Given the description of an element on the screen output the (x, y) to click on. 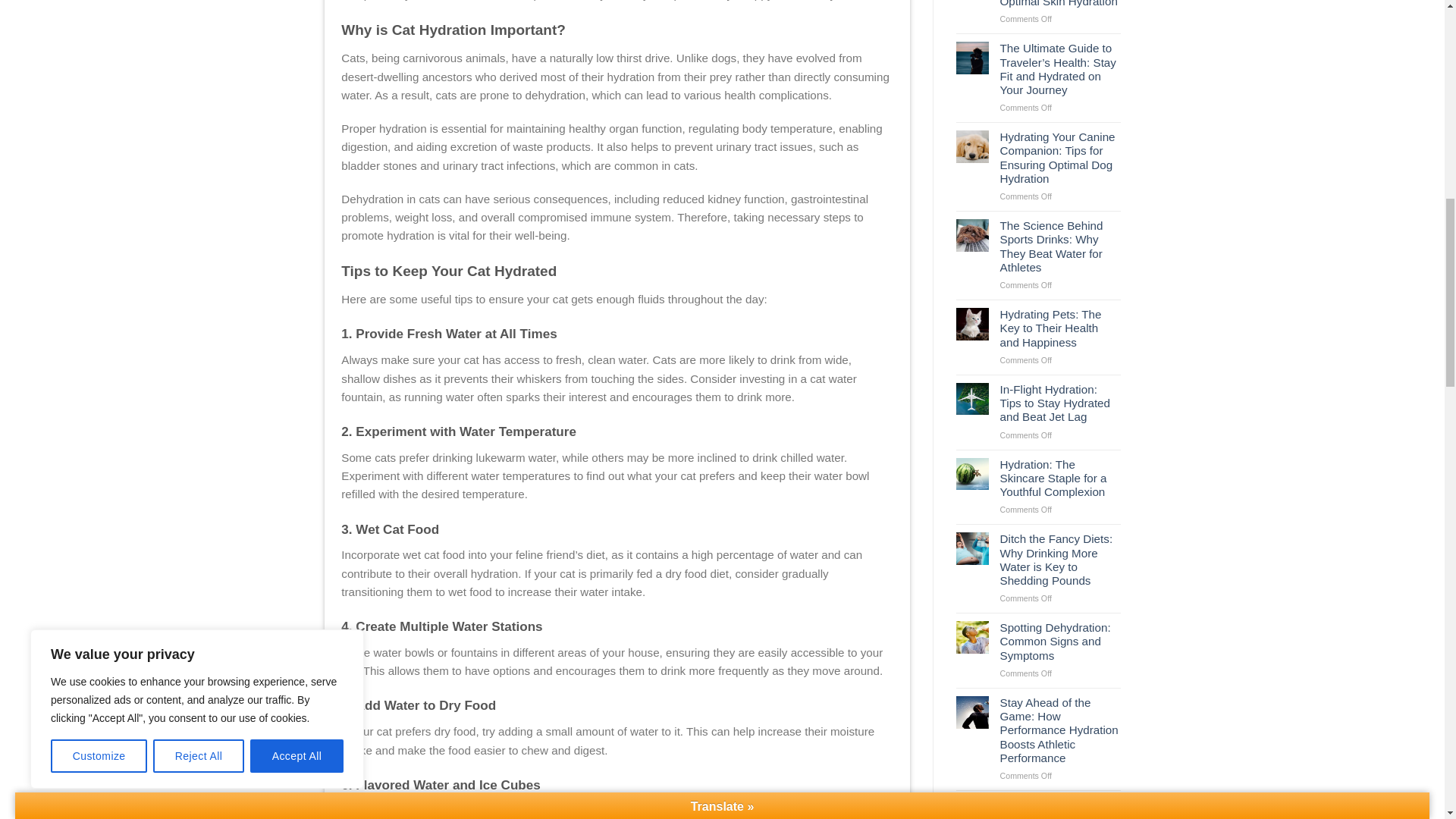
Say Goodbye to Dryness: Secrets to Optimal Skin Hydration (1060, 4)
Hydrating Pets: The Key to Their Health and Happiness (1060, 328)
Spotting Dehydration: Common Signs and Symptoms (1060, 641)
Hydration: The Skincare Staple for a Youthful Complexion (1060, 478)
In-Flight Hydration: Tips to Stay Hydrated and Beat Jet Lag (1060, 404)
Quenching Their Thirst: Tips to Keep Your Pets Hydrated (1060, 808)
